Given the description of an element on the screen output the (x, y) to click on. 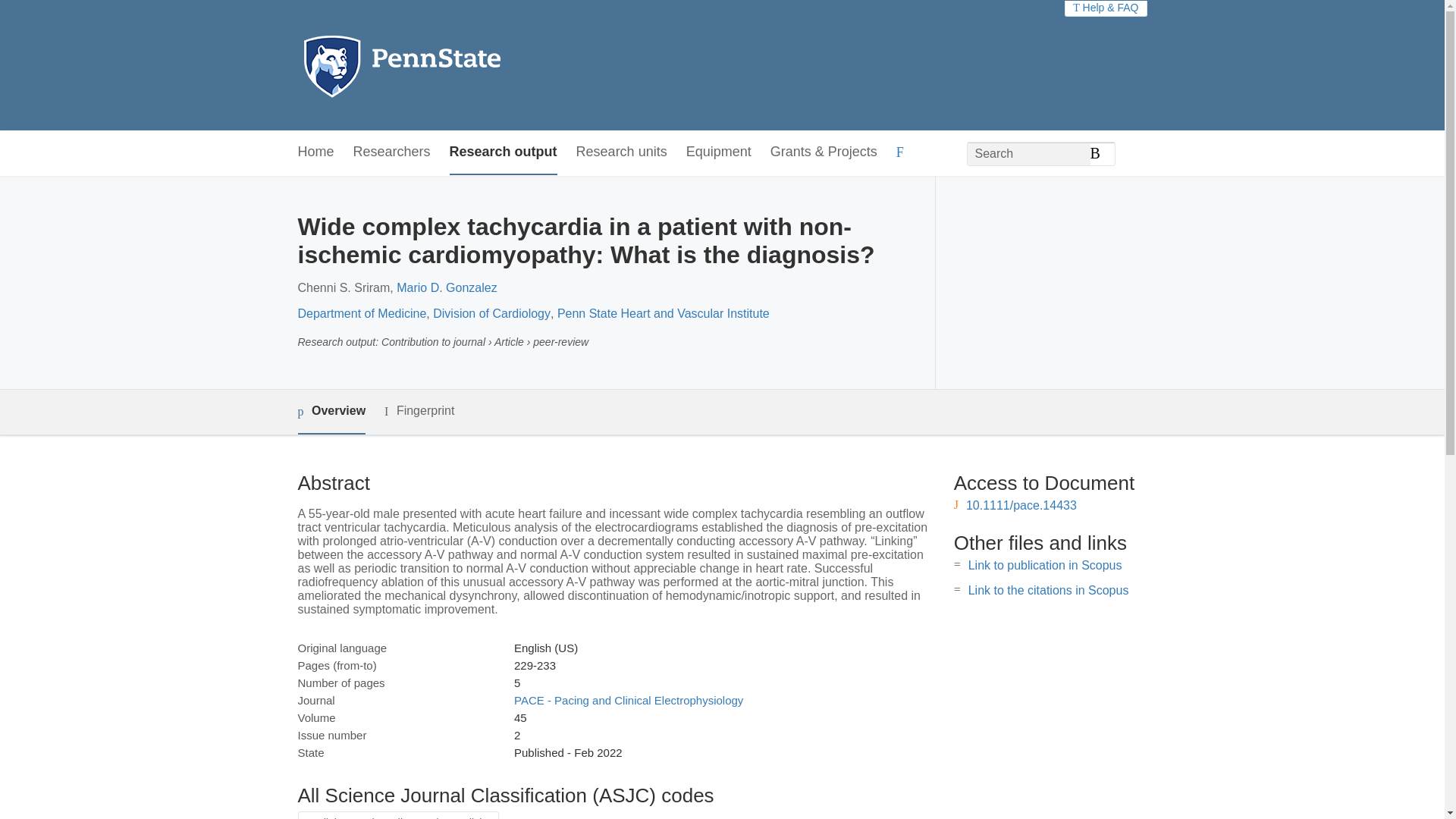
Division of Cardiology (491, 313)
Overview (331, 411)
Penn State Heart and Vascular Institute (663, 313)
Fingerprint (419, 411)
Research units (621, 152)
Link to publication in Scopus (1045, 564)
Research output (503, 152)
PACE - Pacing and Clinical Electrophysiology (627, 699)
Mario D. Gonzalez (446, 287)
Penn State Home (467, 65)
